Given the description of an element on the screen output the (x, y) to click on. 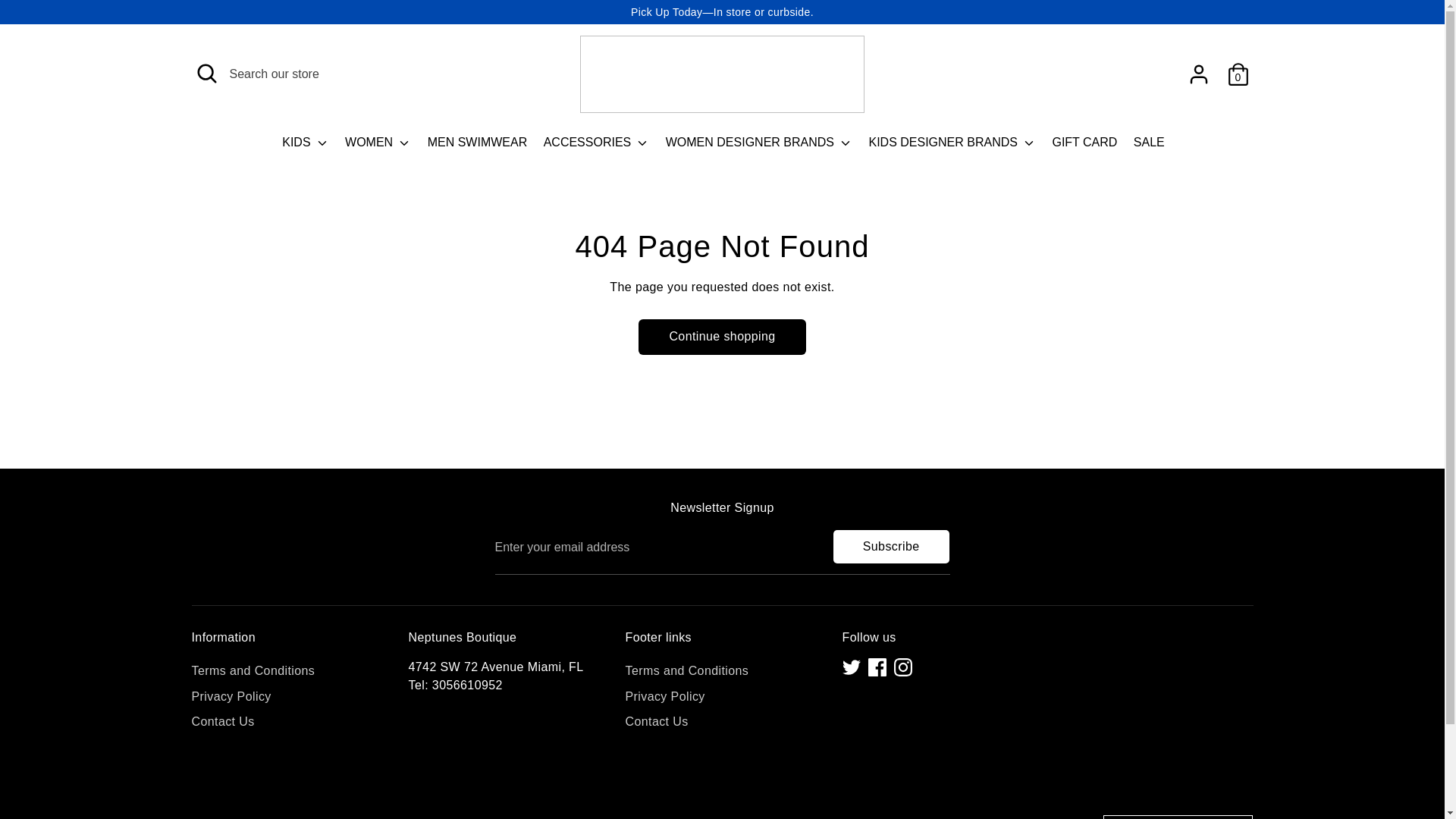
0 (1237, 73)
